Given the description of an element on the screen output the (x, y) to click on. 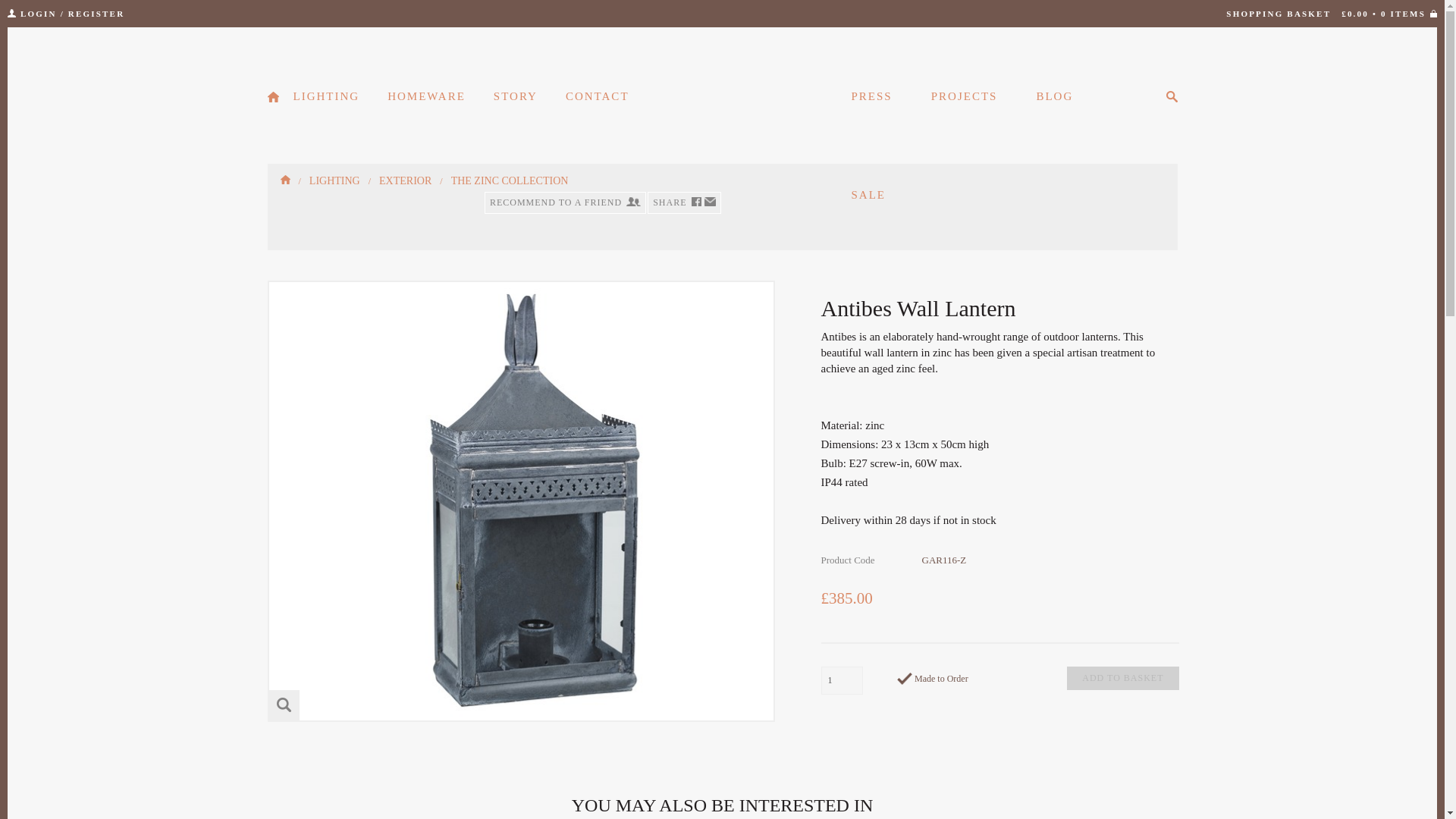
LIGHTING (325, 96)
THE FRENCH HOUSE (722, 97)
1 (841, 680)
Add to Basket (1122, 678)
